Given the description of an element on the screen output the (x, y) to click on. 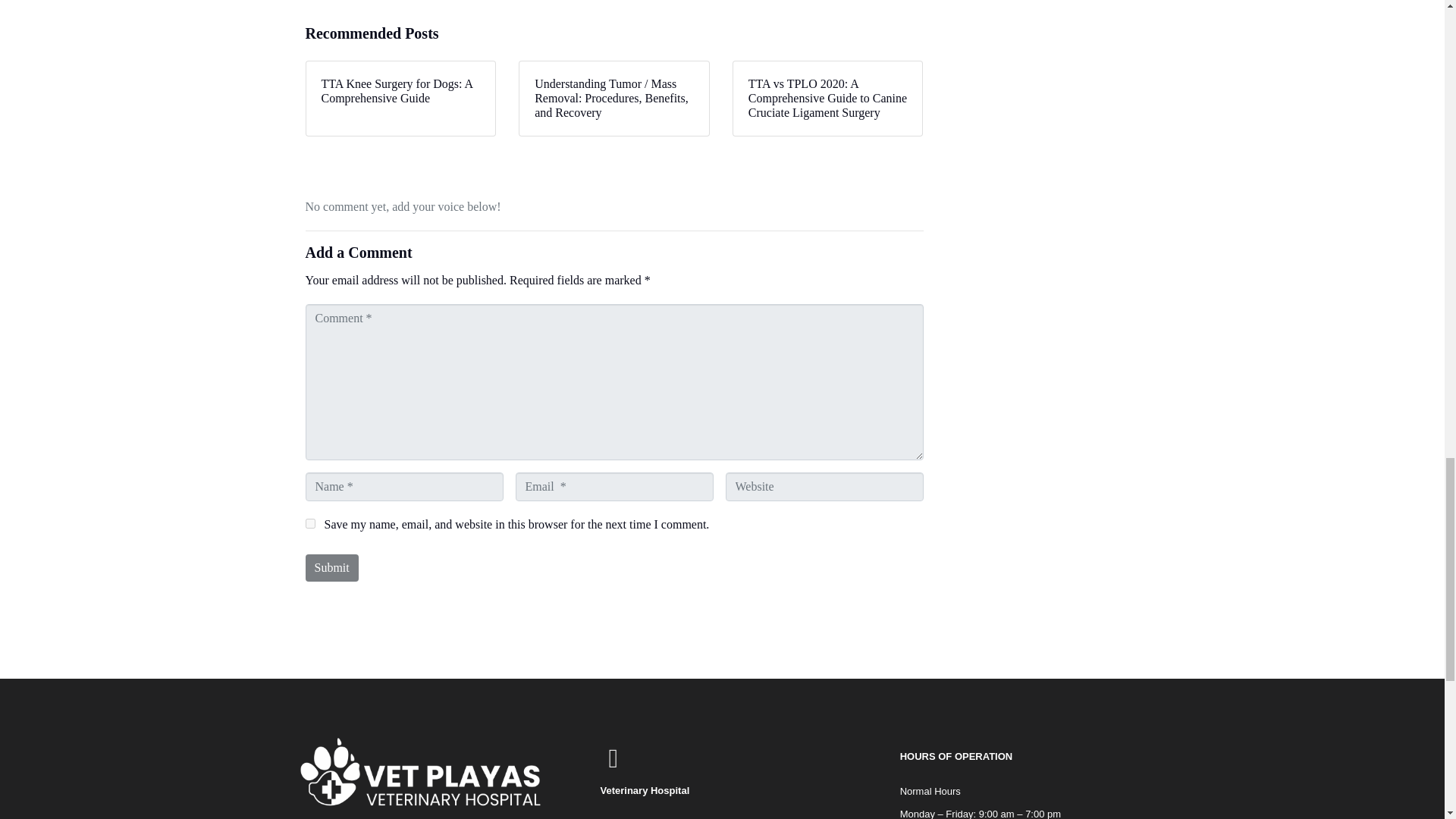
yes (309, 523)
